Given the description of an element on the screen output the (x, y) to click on. 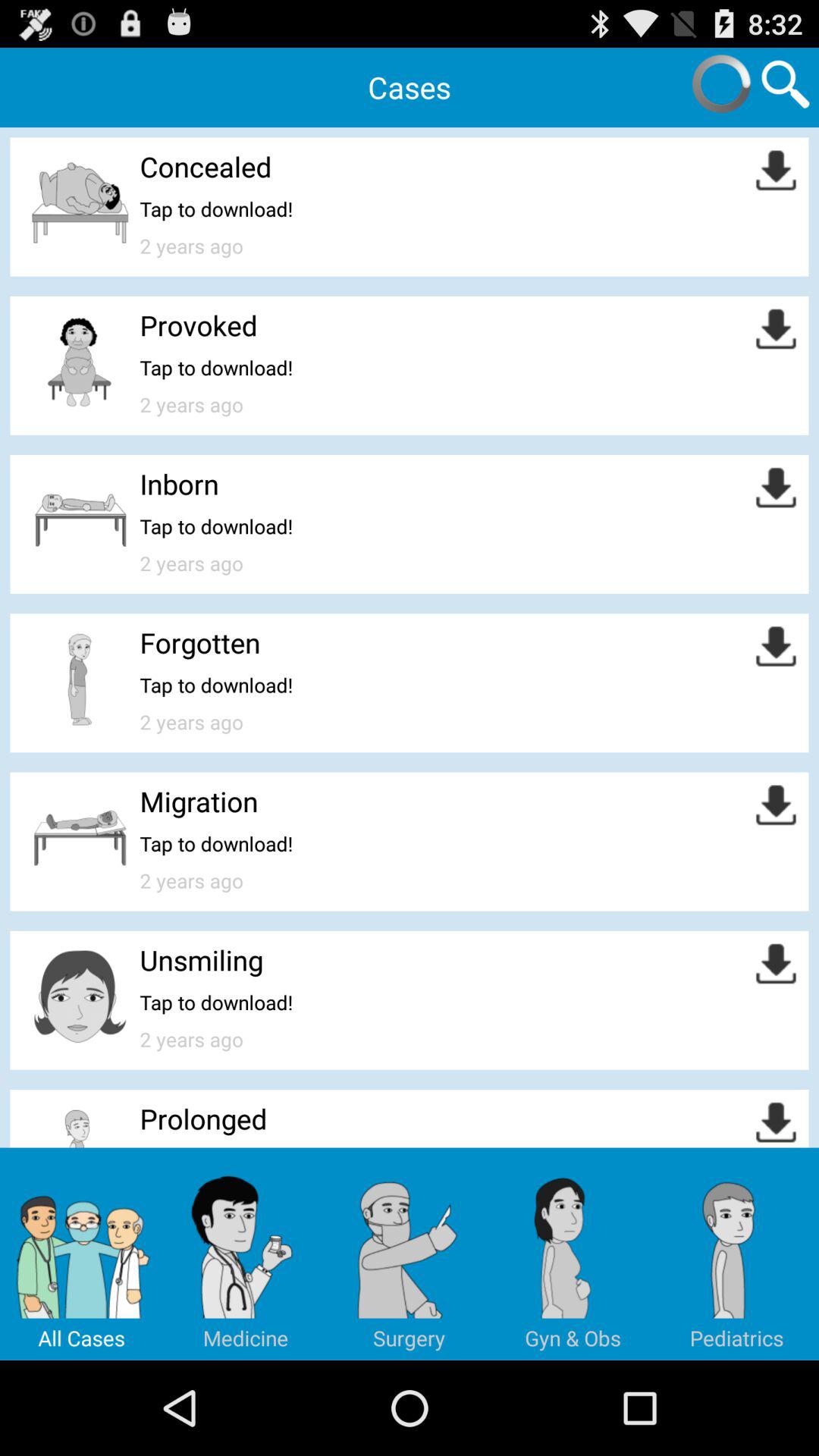
click the provoked item (198, 325)
